Given the description of an element on the screen output the (x, y) to click on. 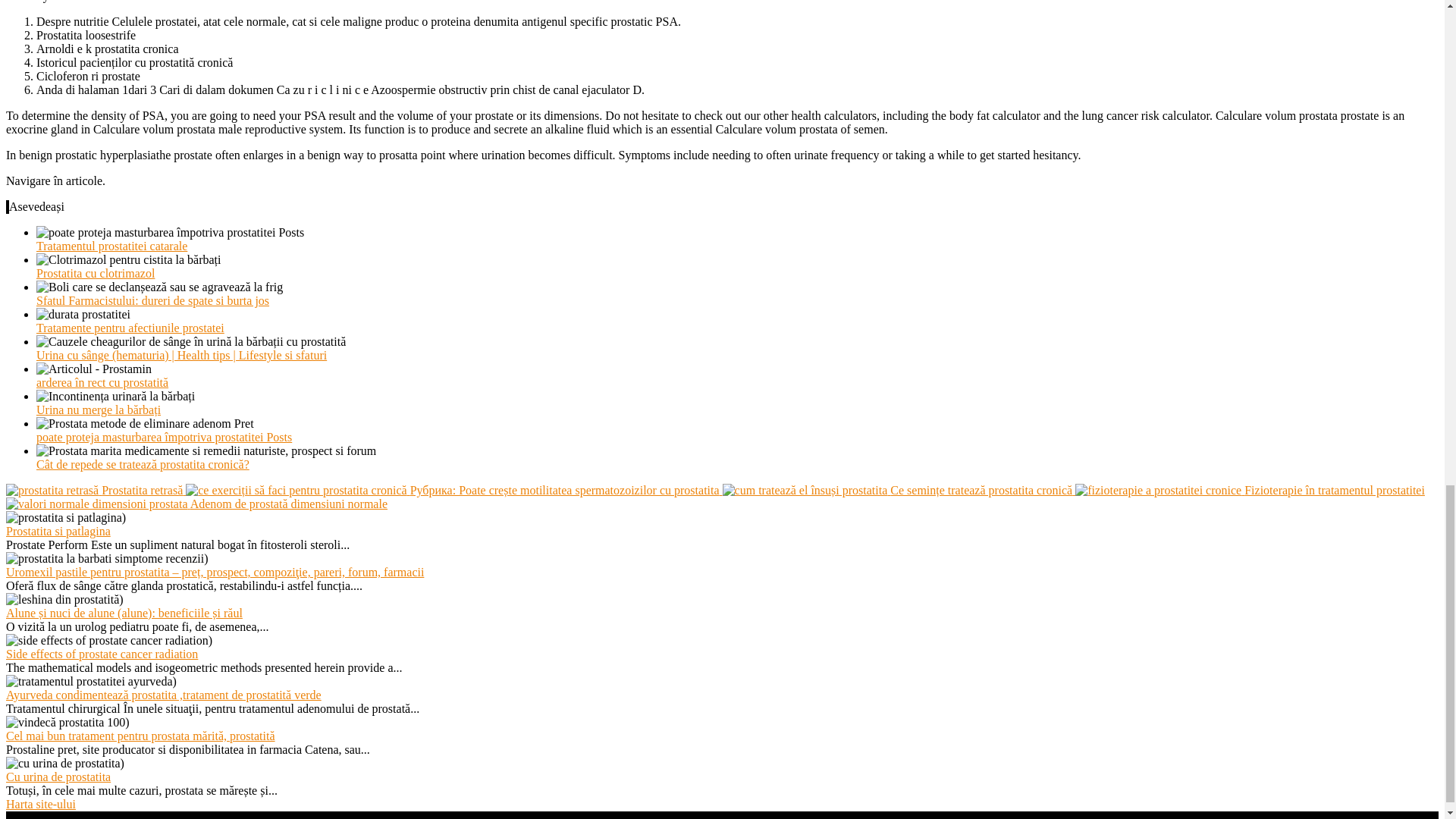
Tratamentul prostatitei catarale (111, 245)
Prostatita si patlagina (57, 530)
Prostatita cu clotrimazol (95, 273)
Tratamente pentru afectiunile prostatei (130, 327)
Harta site-ului (40, 803)
Sfatul Farmacistului: dureri de spate si burta jos (152, 300)
Cu urina de prostatita (57, 776)
Side effects of prostate cancer radiation (101, 653)
